Given the description of an element on the screen output the (x, y) to click on. 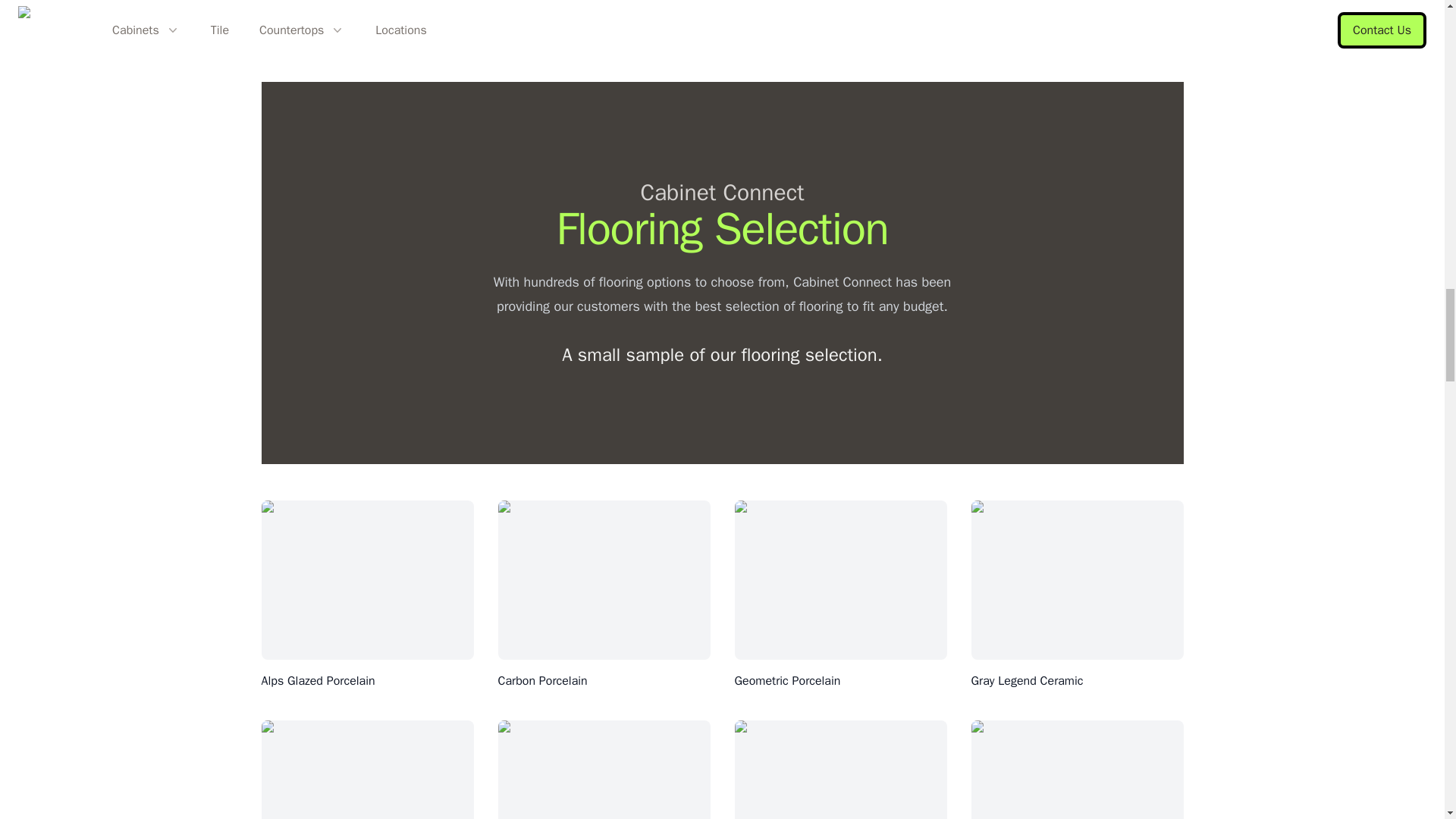
Carbon Porcelain (541, 680)
White Cream Chevron Mosaic Marble (595, 23)
White Porcelain Subway (1033, 23)
Volare Glass and Porcelain Mosaic (352, 23)
Alps Glazed Porcelain (317, 680)
White Glazed Ceramic Subway (813, 23)
